Given the description of an element on the screen output the (x, y) to click on. 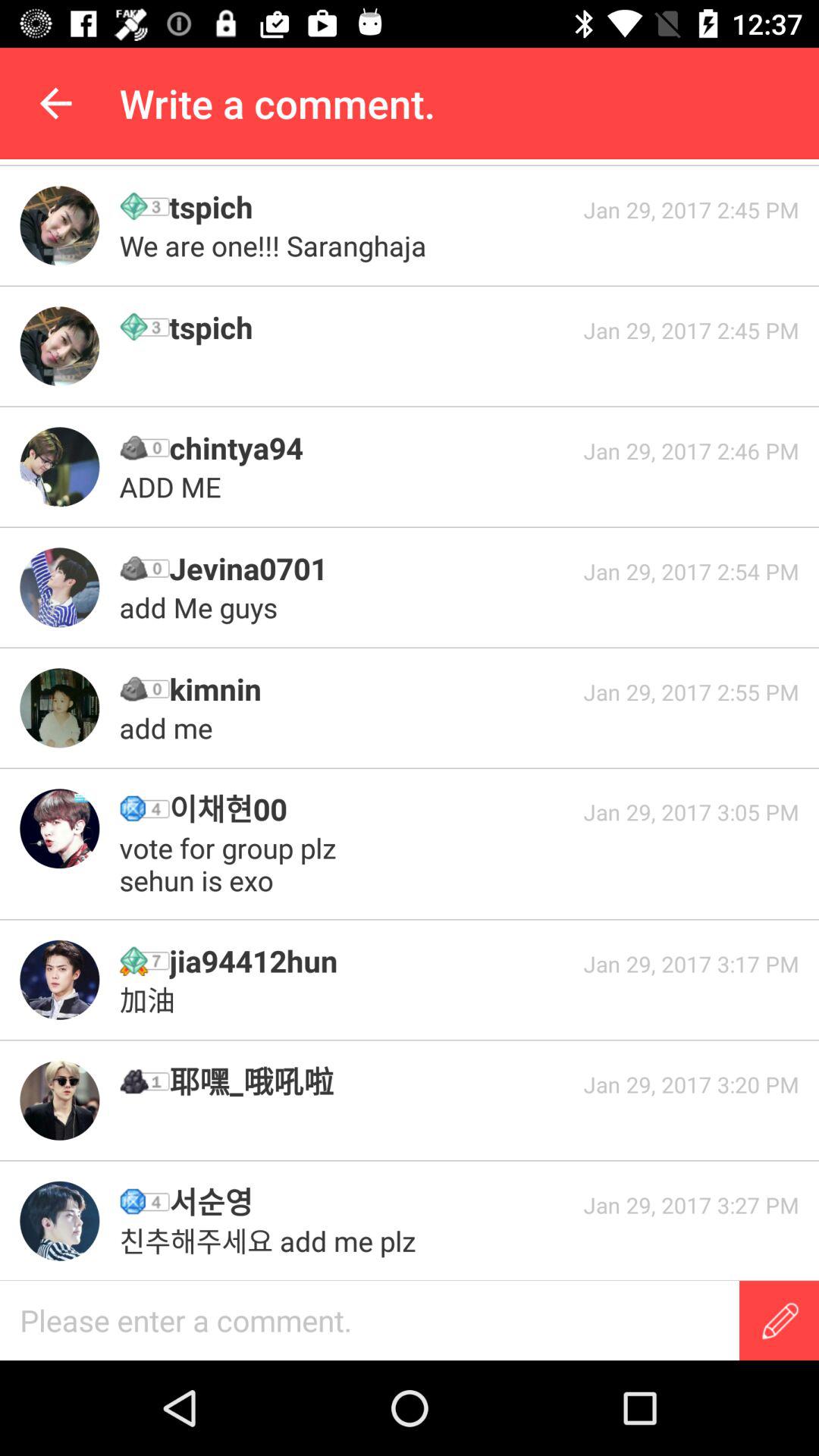
turn on the item next to jan 29 2017 (231, 864)
